Given the description of an element on the screen output the (x, y) to click on. 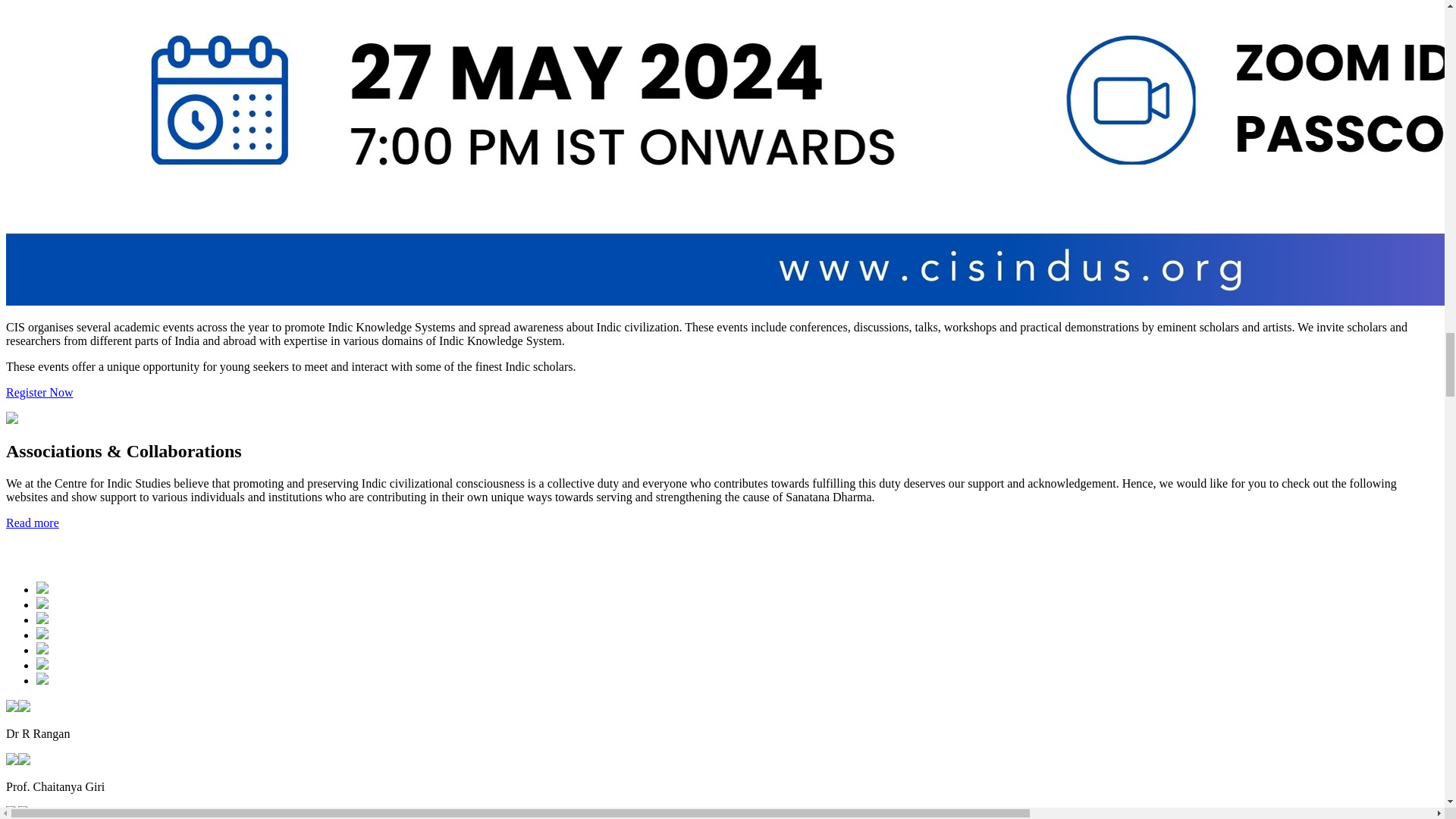
Read more (32, 522)
Register Now (38, 391)
